Given the description of an element on the screen output the (x, y) to click on. 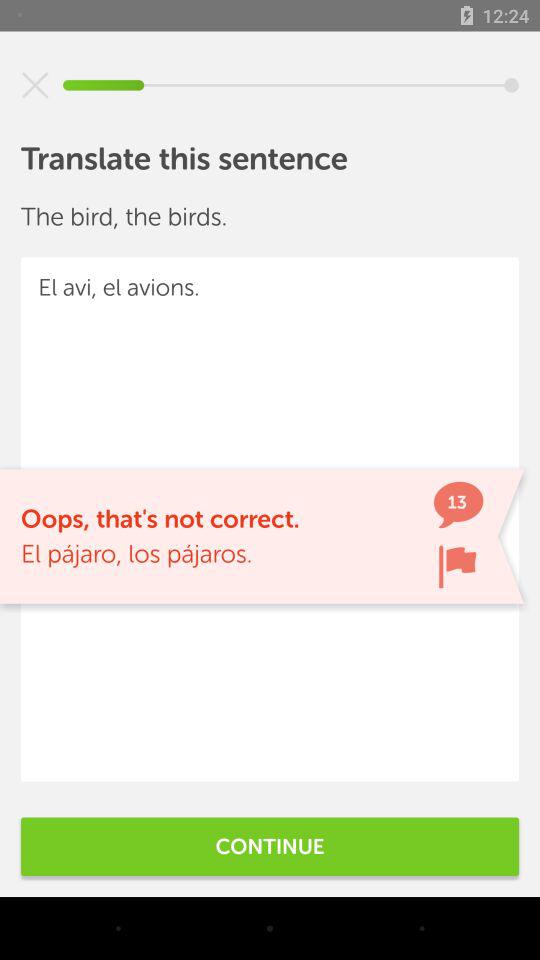
close tab (35, 85)
